Given the description of an element on the screen output the (x, y) to click on. 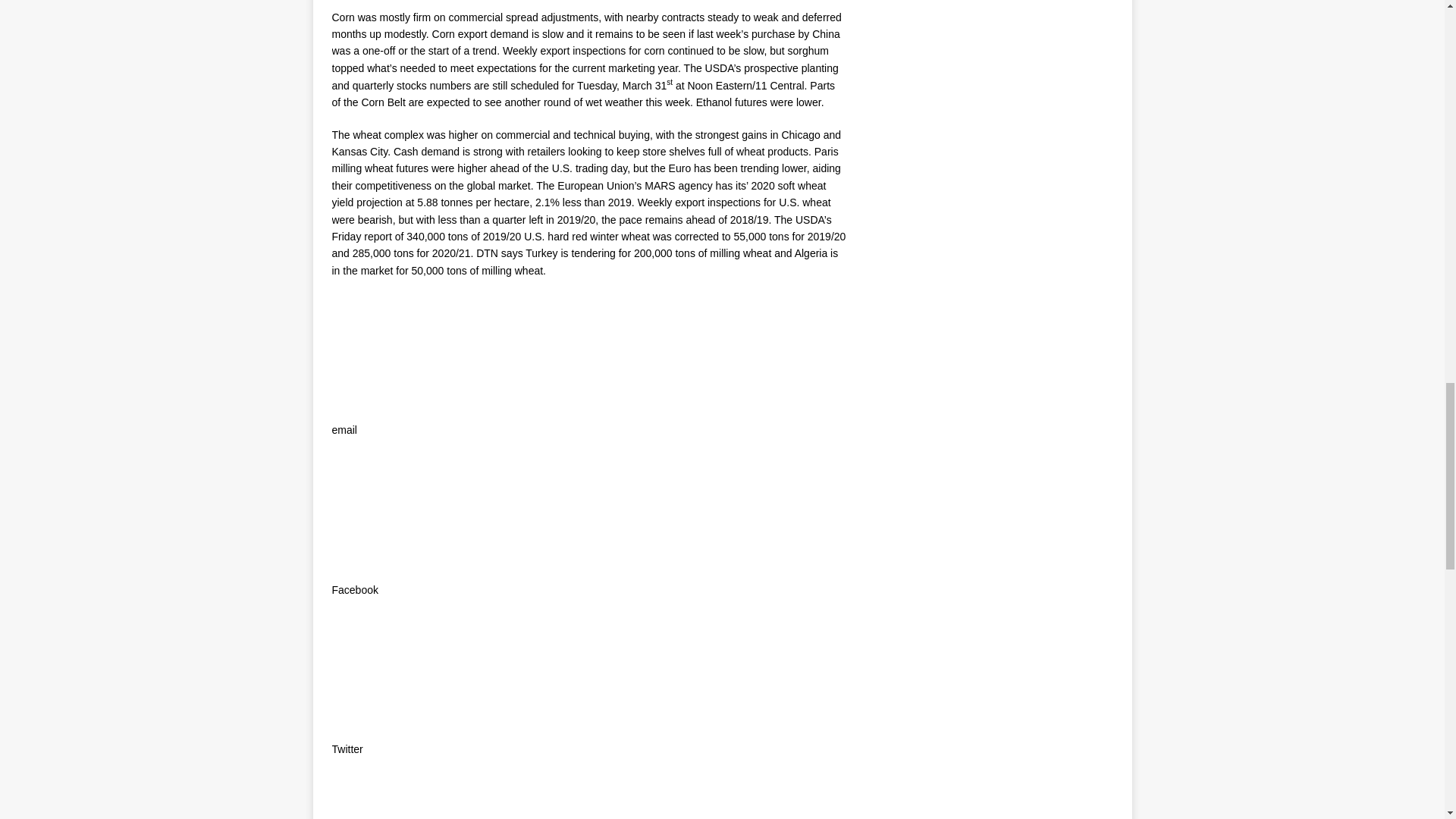
Email (355, 318)
Email (355, 381)
Twitter (355, 637)
Facebook (355, 540)
Twitter (355, 701)
Print (355, 796)
Facebook (355, 477)
